Given the description of an element on the screen output the (x, y) to click on. 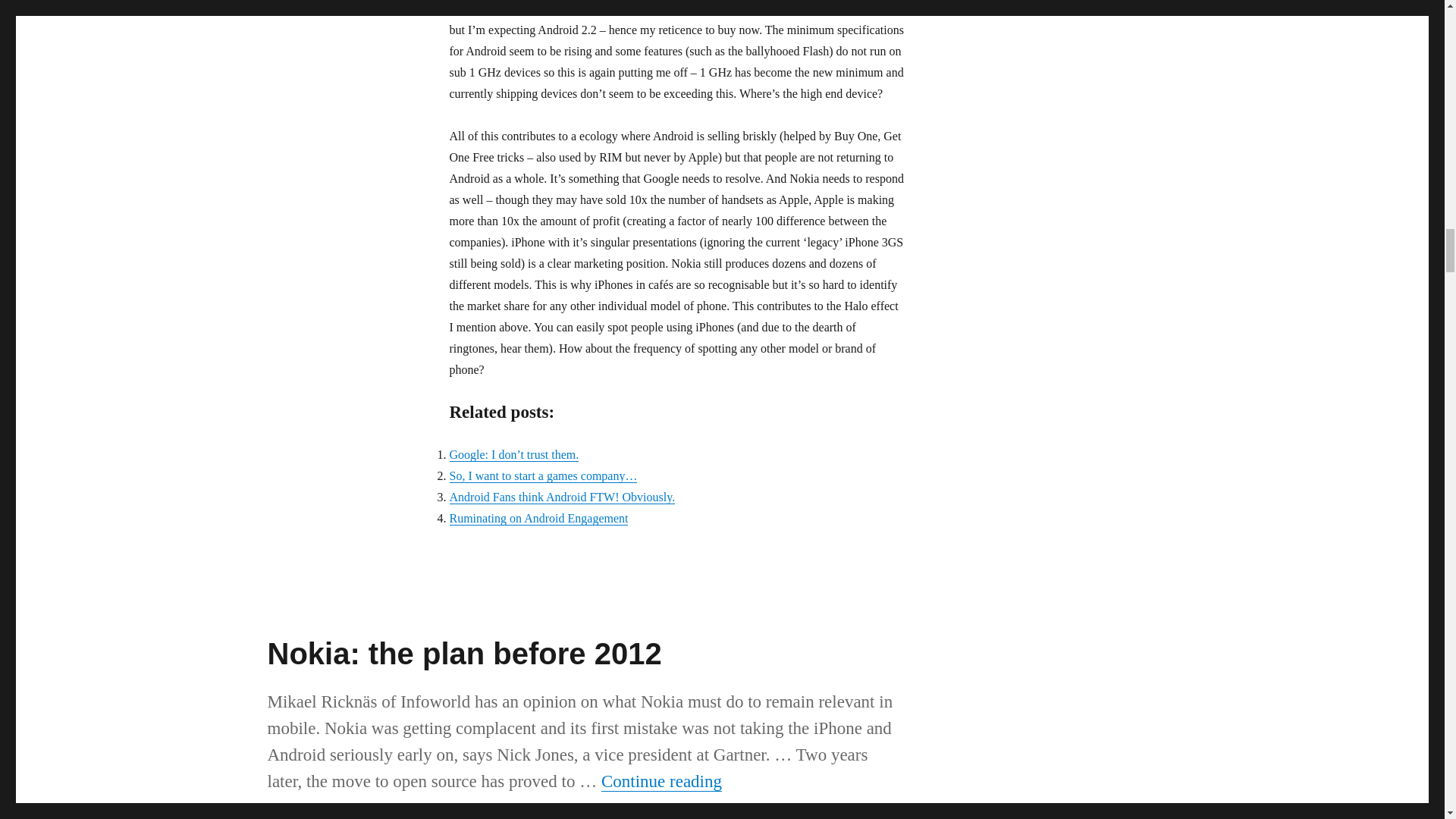
Android Fans think Android FTW! Obviously. (561, 496)
Ruminating on Android Engagement (537, 517)
Android Fans think Android FTW! Obviously. (561, 496)
Ruminating on Android Engagement (537, 517)
